Given the description of an element on the screen output the (x, y) to click on. 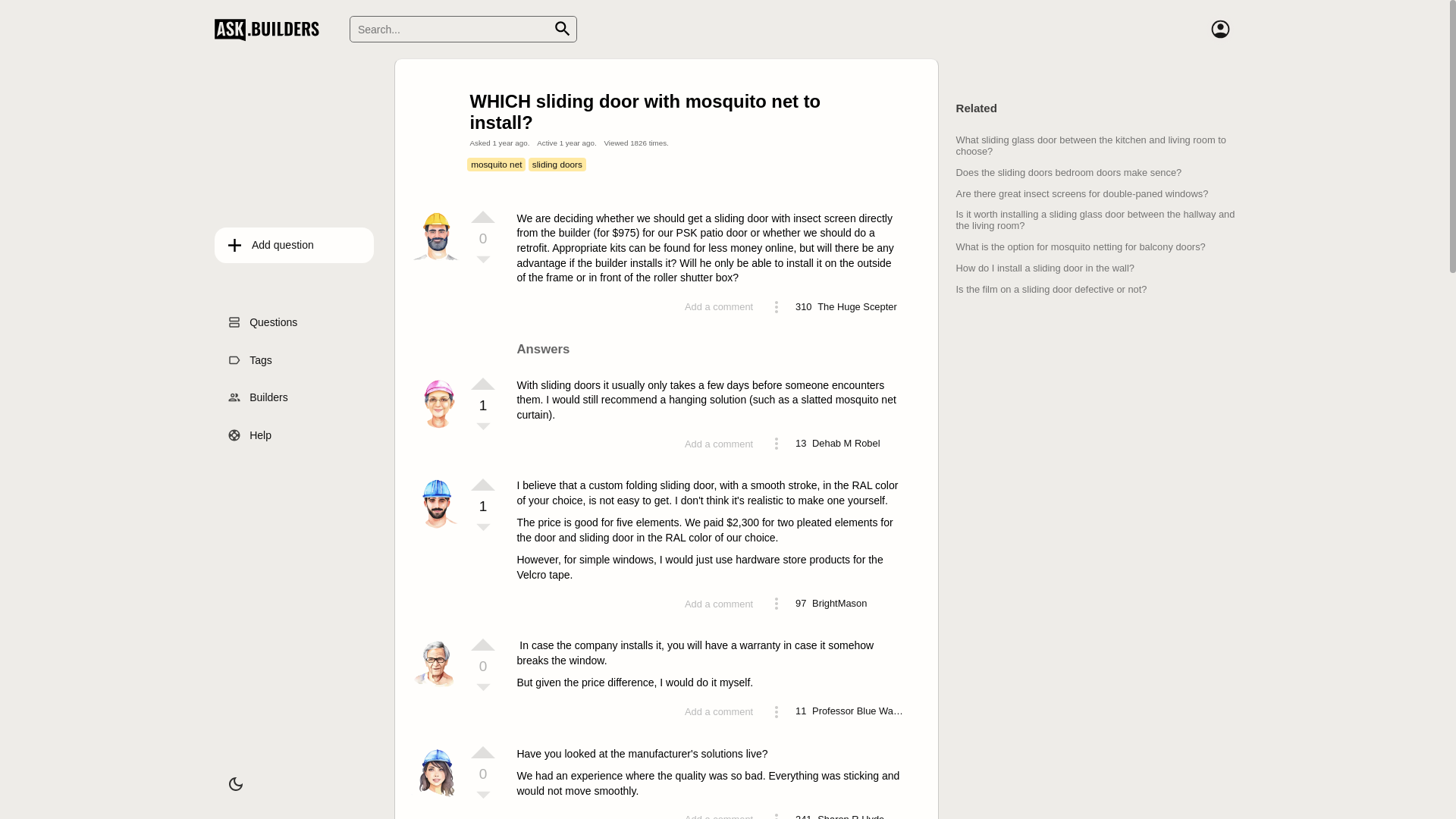
This answer is unclear or not useful Element type: hover (482, 427)
This answer is useful and clear Element type: hover (482, 644)
ASK BUILDERS Element type: text (270, 28)
Dark/Light theme Element type: hover (235, 783)
BrightMason Element type: text (839, 603)
This answer is useful and clear Element type: hover (482, 484)
Tags Element type: text (293, 360)
How do I install a sliding door in the wall? Element type: text (1045, 267)
Post actions menu Element type: hover (776, 711)
Author Element type: hover (437, 796)
This question is unclear or not useful Element type: hover (482, 260)
Add a comment Element type: text (718, 603)
Author Element type: hover (437, 527)
This answer is useful and clear Element type: hover (482, 751)
Questions Element type: text (293, 322)
Author Element type: hover (437, 687)
This answer is useful and clear Element type: hover (482, 383)
Builders Element type: text (293, 398)
Dehab M Robel Element type: text (845, 443)
Help Element type: text (293, 435)
Is the film on a sliding door defective or not? Element type: text (1051, 288)
Author Element type: hover (437, 260)
What is the option for mosquito netting for balcony doors? Element type: text (1080, 246)
This answer is unclear or not useful Element type: hover (482, 688)
Author Element type: hover (437, 427)
sliding doors Element type: text (556, 164)
This answer is unclear or not useful Element type: hover (482, 795)
This question is useful and clear Element type: hover (482, 216)
Add question Element type: text (293, 245)
Profile Element type: hover (1219, 28)
Post actions menu Element type: hover (776, 603)
Does the sliding doors bedroom doors make sence? Element type: text (1069, 172)
Post actions menu Element type: hover (776, 443)
Add a comment Element type: text (718, 711)
Are there great insect screens for double-paned windows? Element type: text (1082, 193)
Add a comment Element type: text (718, 306)
mosquito net Element type: text (496, 164)
Add a comment Element type: text (718, 443)
This answer is unclear or not useful Element type: hover (482, 528)
Professor Blue Wasp Element type: text (857, 711)
The Huge Scepter Element type: text (857, 306)
Post actions menu Element type: hover (776, 306)
